Given the description of an element on the screen output the (x, y) to click on. 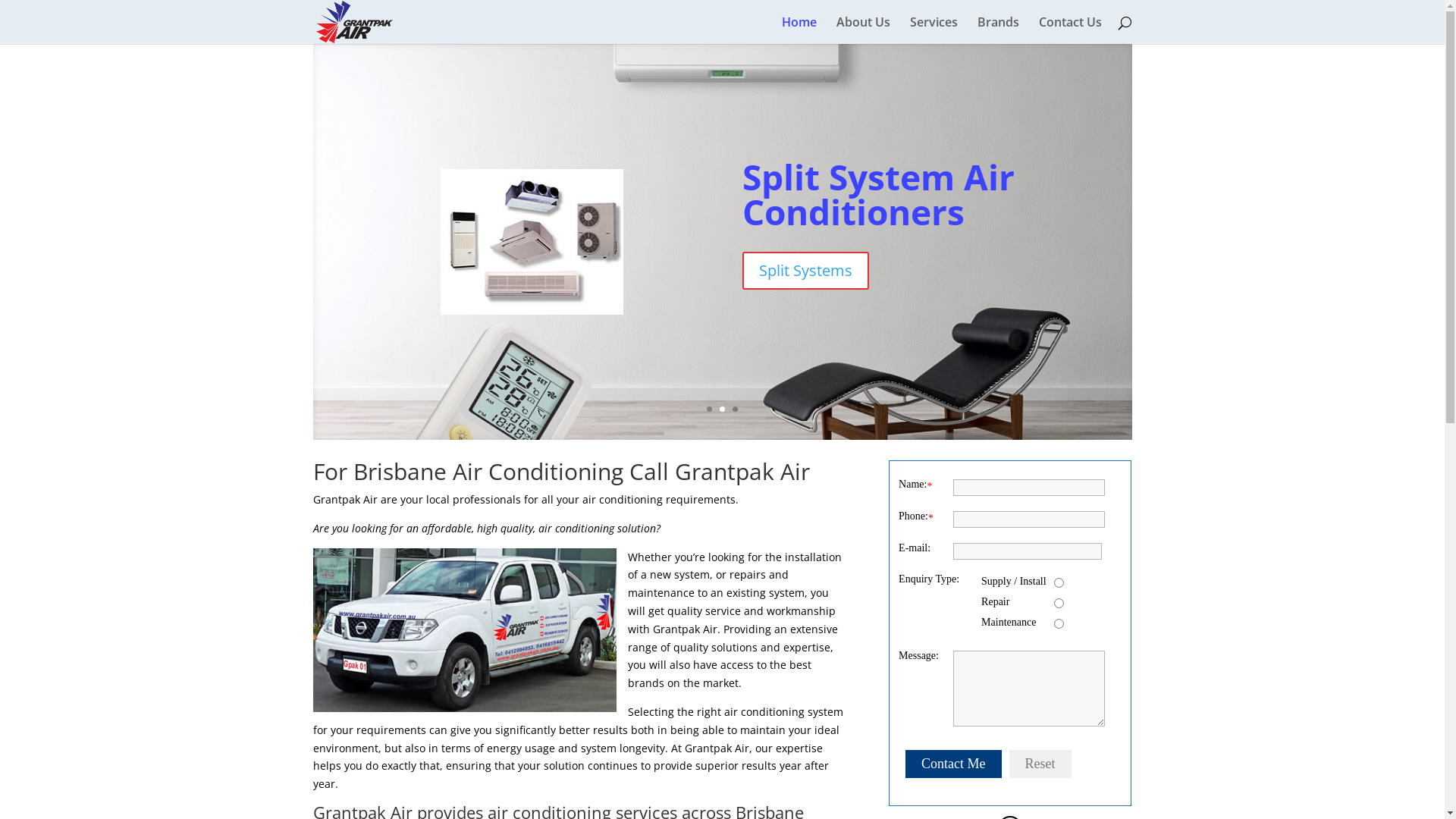
2 Element type: text (721, 408)
About Us Element type: text (862, 29)
Contact Us Element type: text (1069, 29)
Contact Me Element type: text (953, 763)
Split Systems Element type: text (805, 271)
Services Element type: text (933, 29)
Supply / Install Element type: text (1058, 582)
Repair Element type: text (1058, 603)
Brands Element type: text (997, 29)
3 Element type: text (734, 408)
Maintenance Element type: text (1058, 623)
Reset Element type: text (1040, 763)
1 Element type: text (709, 408)
Home Element type: text (798, 29)
Split System Air Conditioners Element type: text (878, 194)
